Given the description of an element on the screen output the (x, y) to click on. 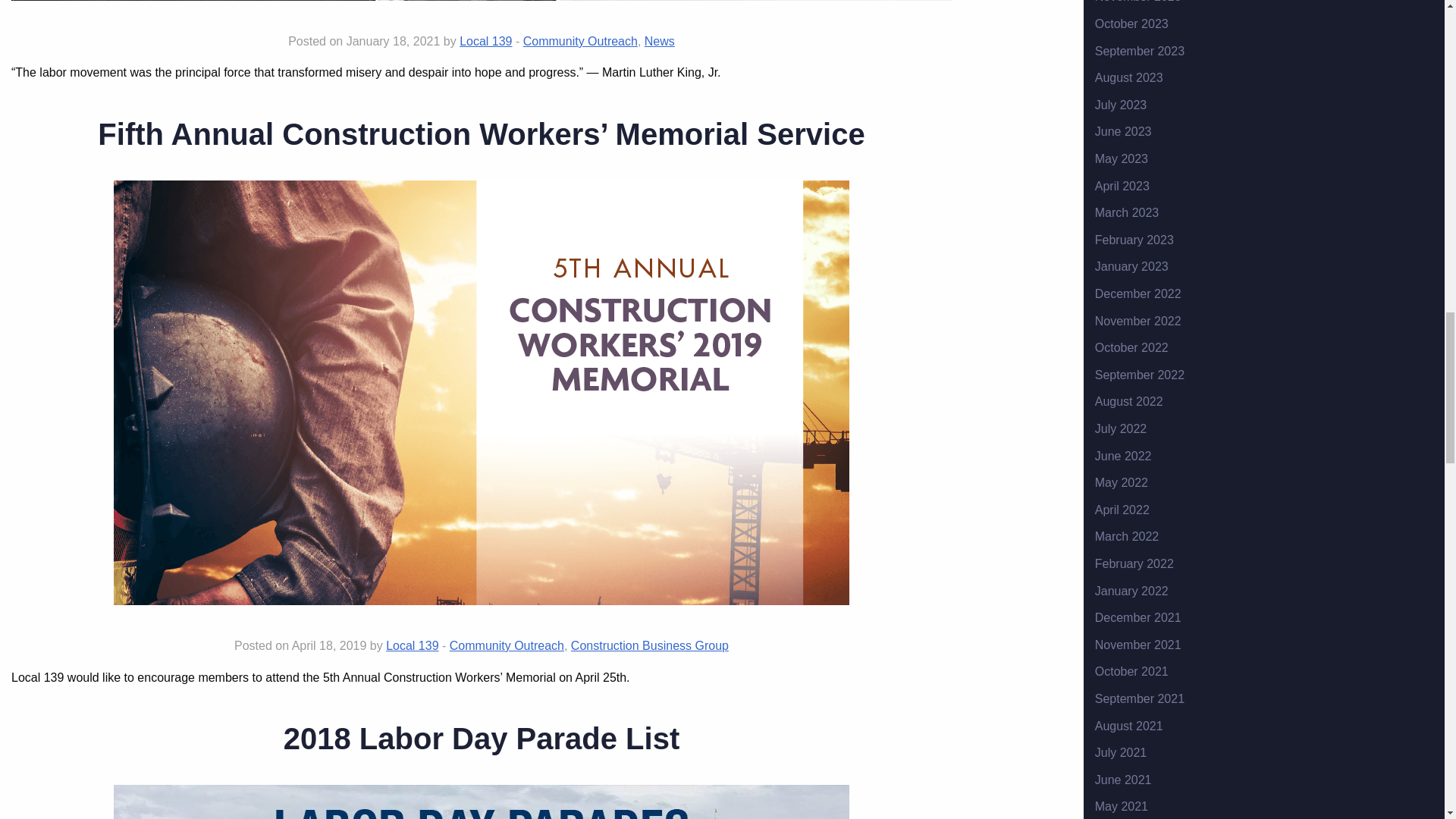
Posts by Local 139 (486, 41)
2018 Labor Day Parade List (481, 738)
Posts by Local 139 (411, 645)
